Given the description of an element on the screen output the (x, y) to click on. 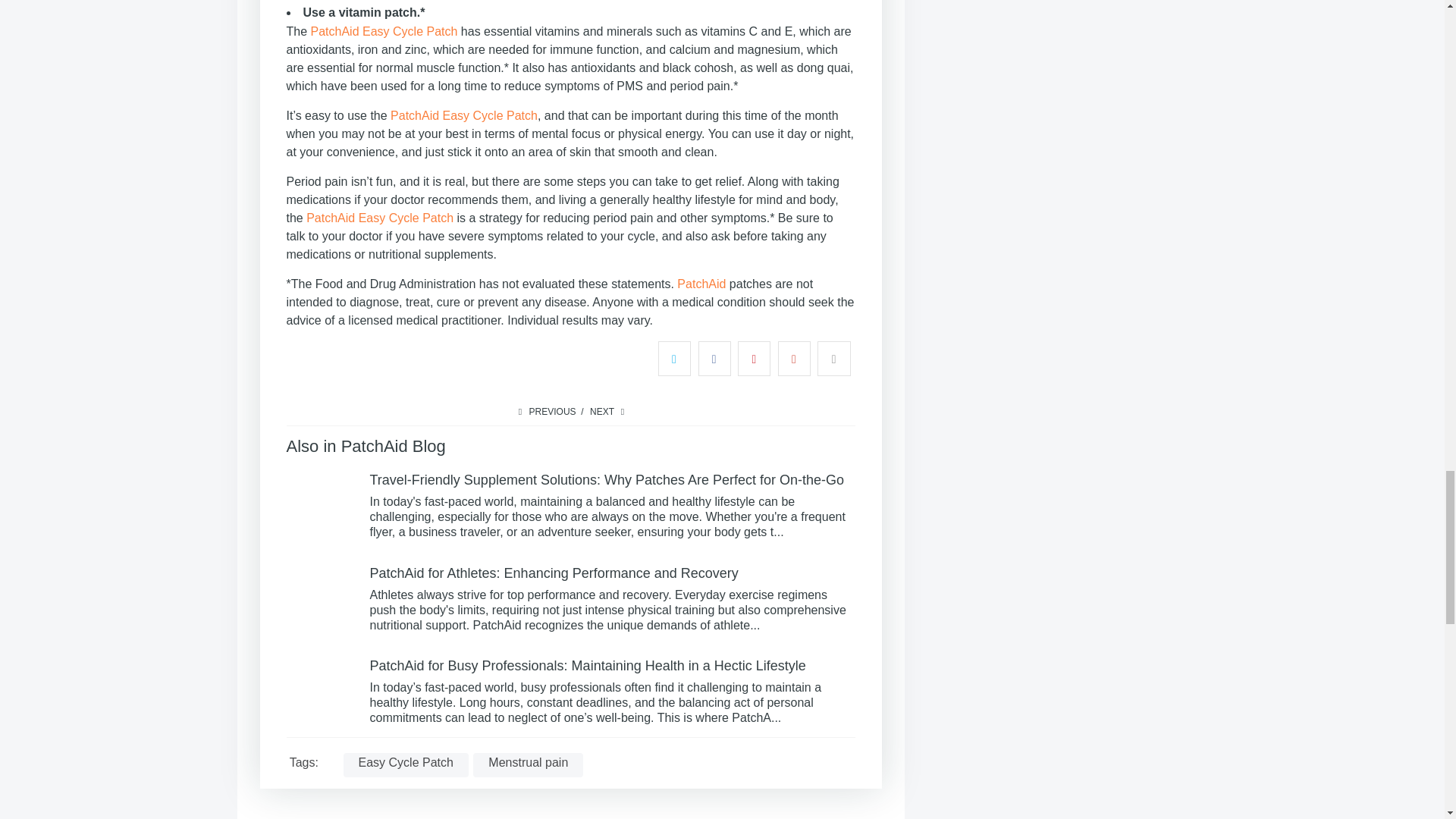
Share this on Pinterest (754, 358)
Share this on Facebook (713, 358)
Share this on Twitter (674, 358)
